Given the description of an element on the screen output the (x, y) to click on. 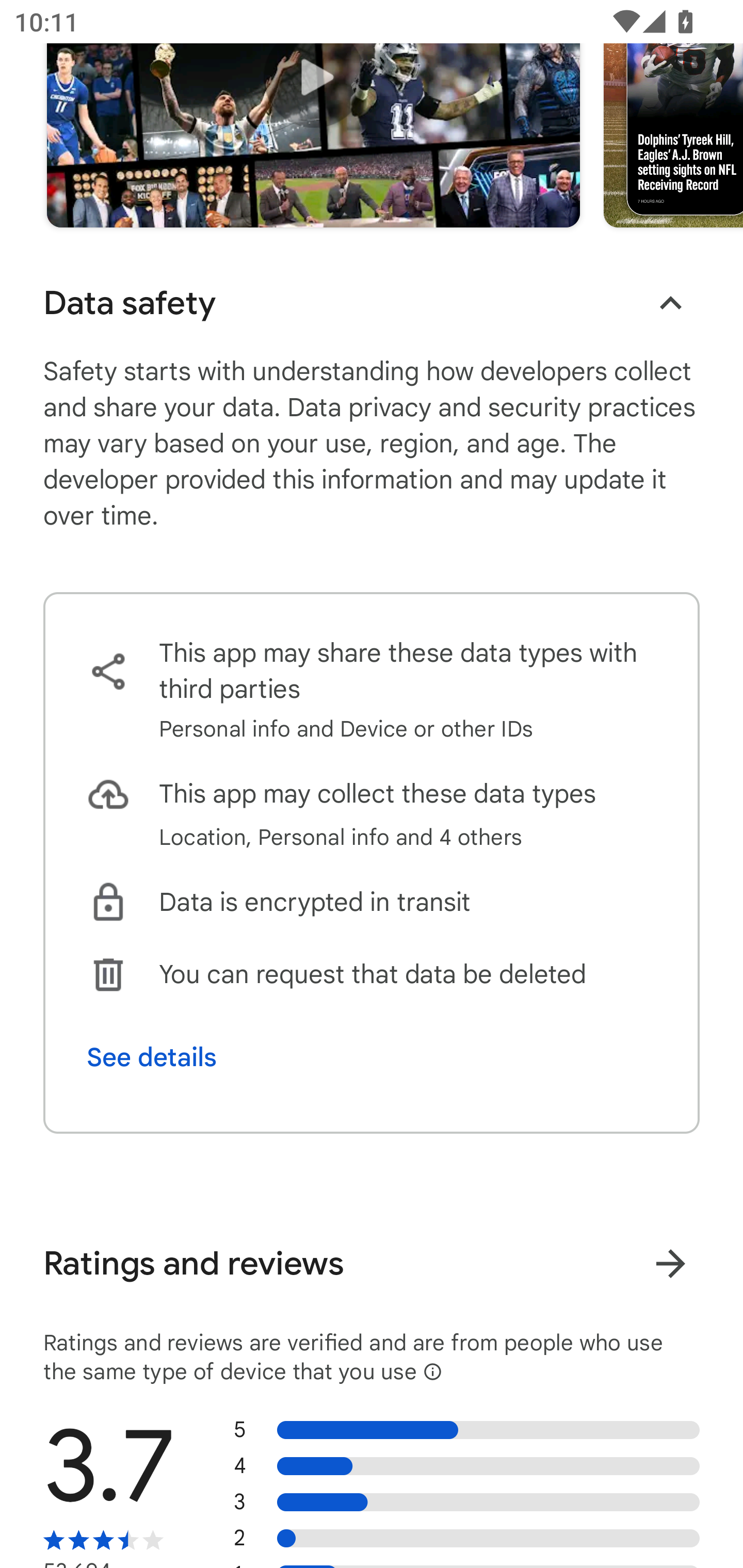
Play trailer for "FOX Sports: Watch Live" (313, 113)
Data safety Collapse (371, 303)
Collapse (670, 303)
See details (151, 1057)
Ratings and reviews View all ratings and reviews (371, 1263)
View all ratings and reviews (670, 1263)
